Given the description of an element on the screen output the (x, y) to click on. 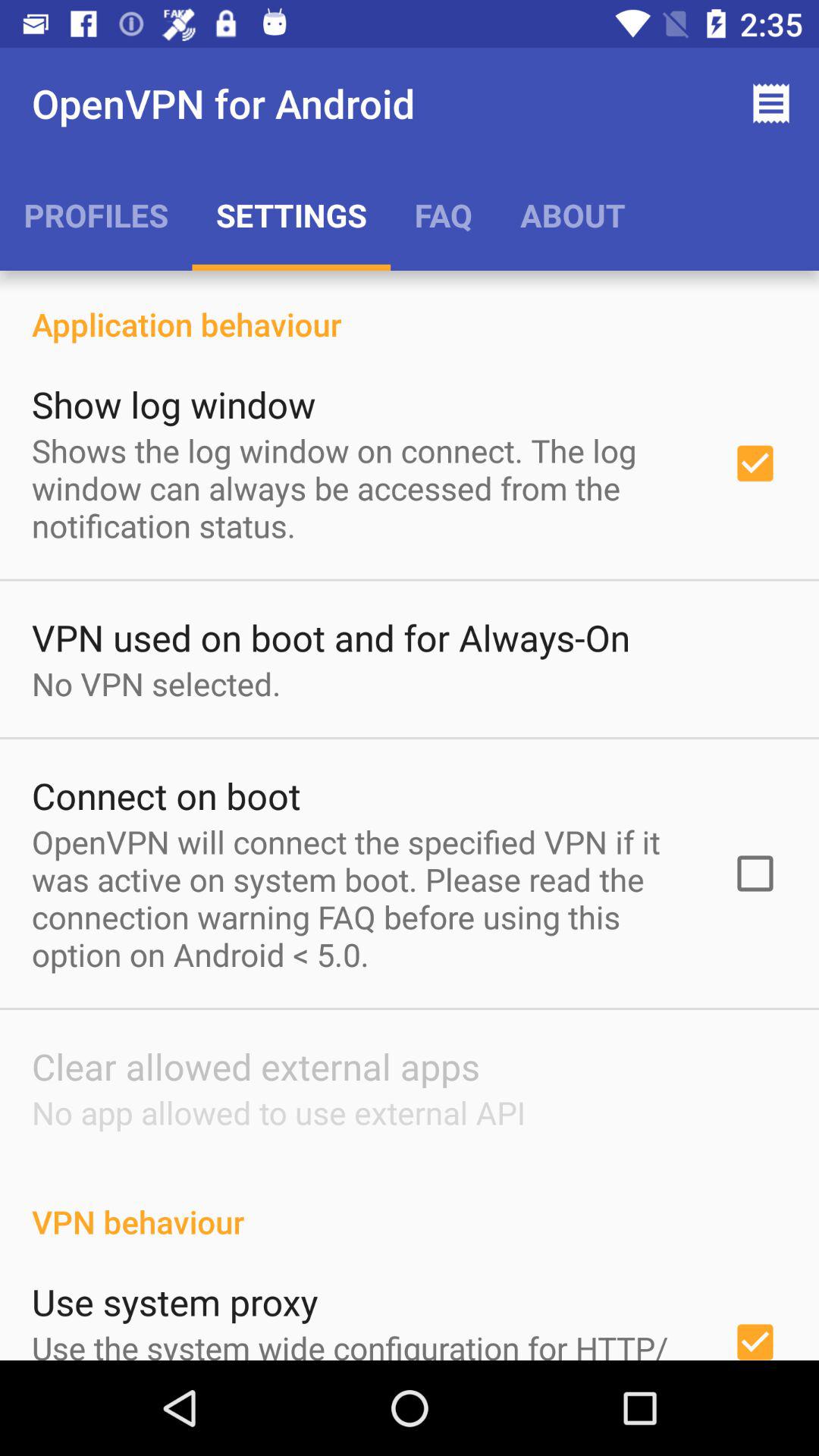
launch the icon to the left of the faq item (291, 214)
